Given the description of an element on the screen output the (x, y) to click on. 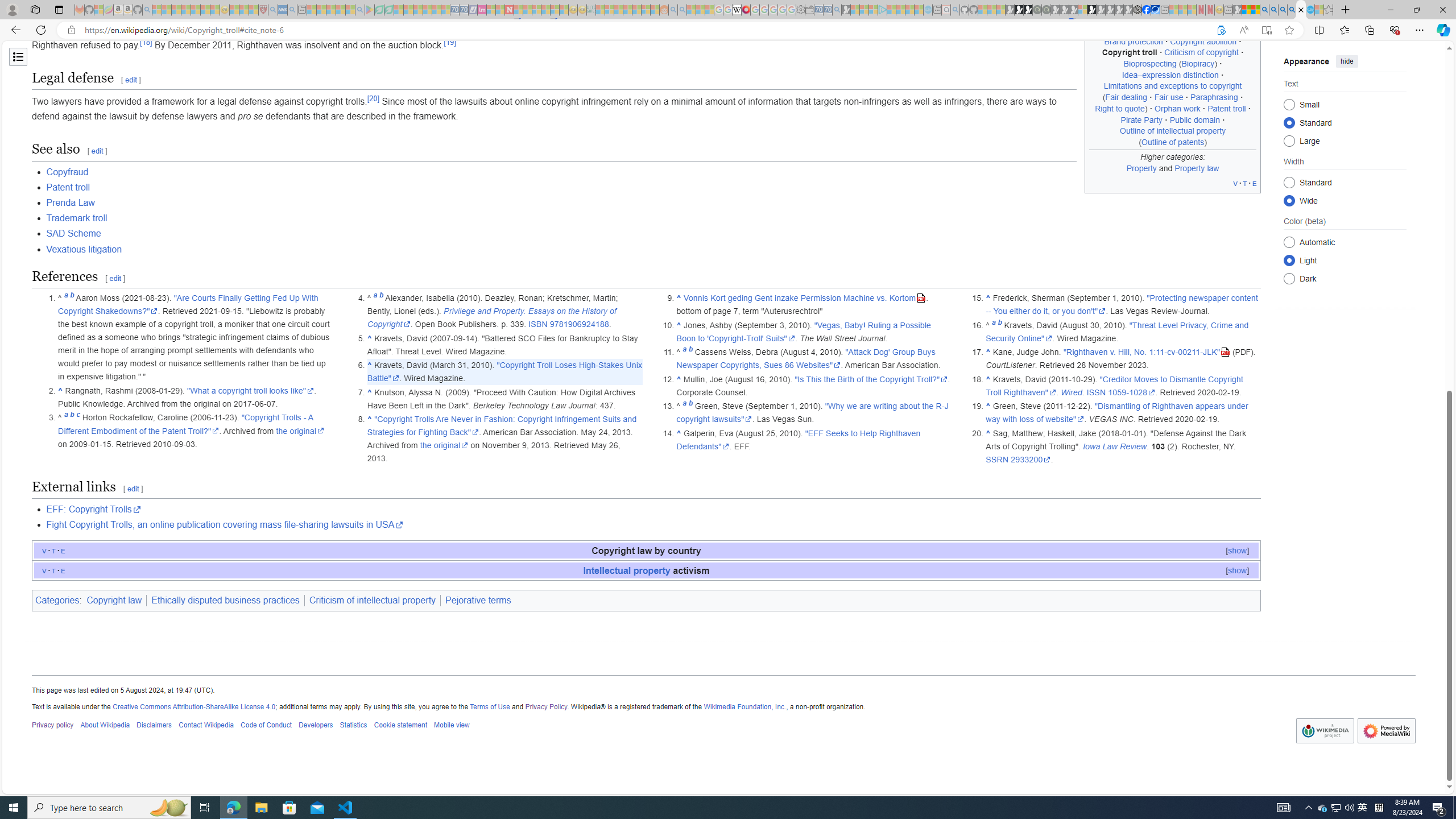
Bioprospecting (1149, 63)
Mobile view (451, 725)
Copyright law (113, 600)
Target page - Wikipedia (736, 9)
Privacy policy (53, 725)
Trademark troll (653, 218)
9781906924188 (578, 324)
Patent troll (68, 186)
